Given the description of an element on the screen output the (x, y) to click on. 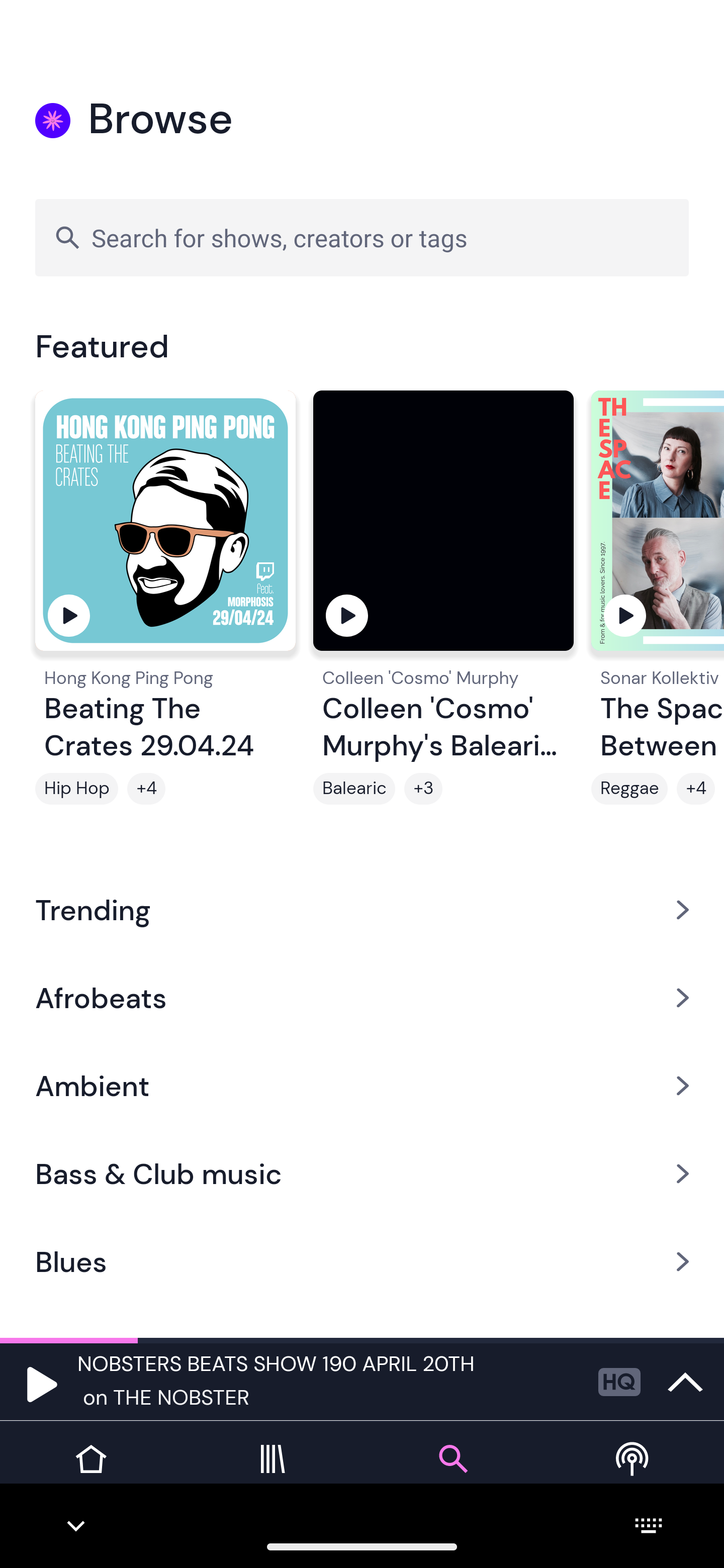
Search for shows, creators or tags (361, 237)
Hip Hop (76, 788)
Balearic (354, 788)
Reggae (629, 788)
Trending (361, 909)
Afrobeats (361, 997)
Ambient (361, 1085)
Bass & Club music (361, 1174)
Blues (361, 1262)
Home tab (90, 1473)
Library tab (271, 1473)
Browse tab (452, 1473)
Live tab (633, 1473)
